Given the description of an element on the screen output the (x, y) to click on. 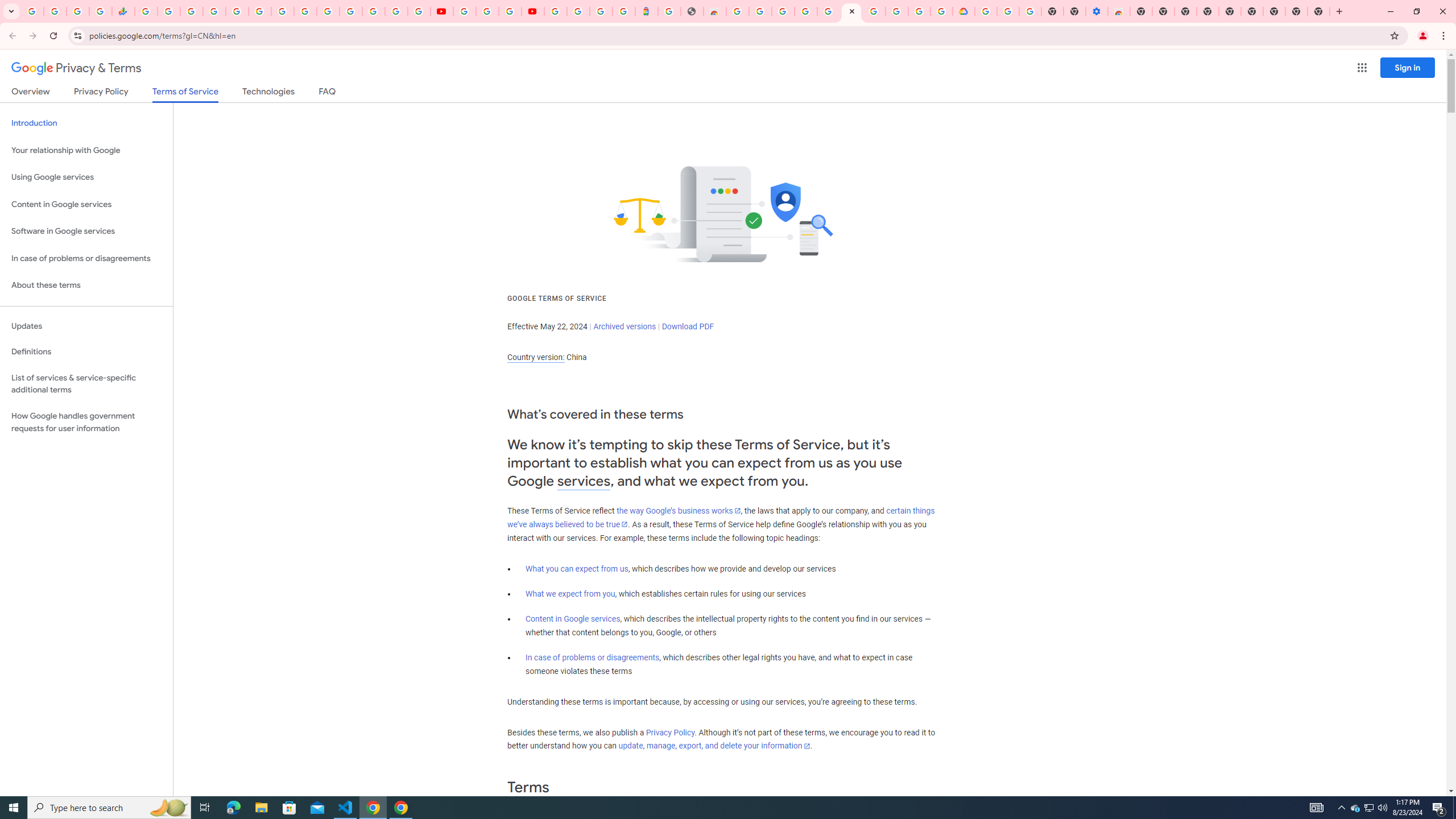
What you can expect from us (576, 568)
Google Account Help (874, 11)
Atour Hotel - Google hotels (646, 11)
Using Google services (86, 176)
Chrome Web Store - Accessibility extensions (1118, 11)
